Given the description of an element on the screen output the (x, y) to click on. 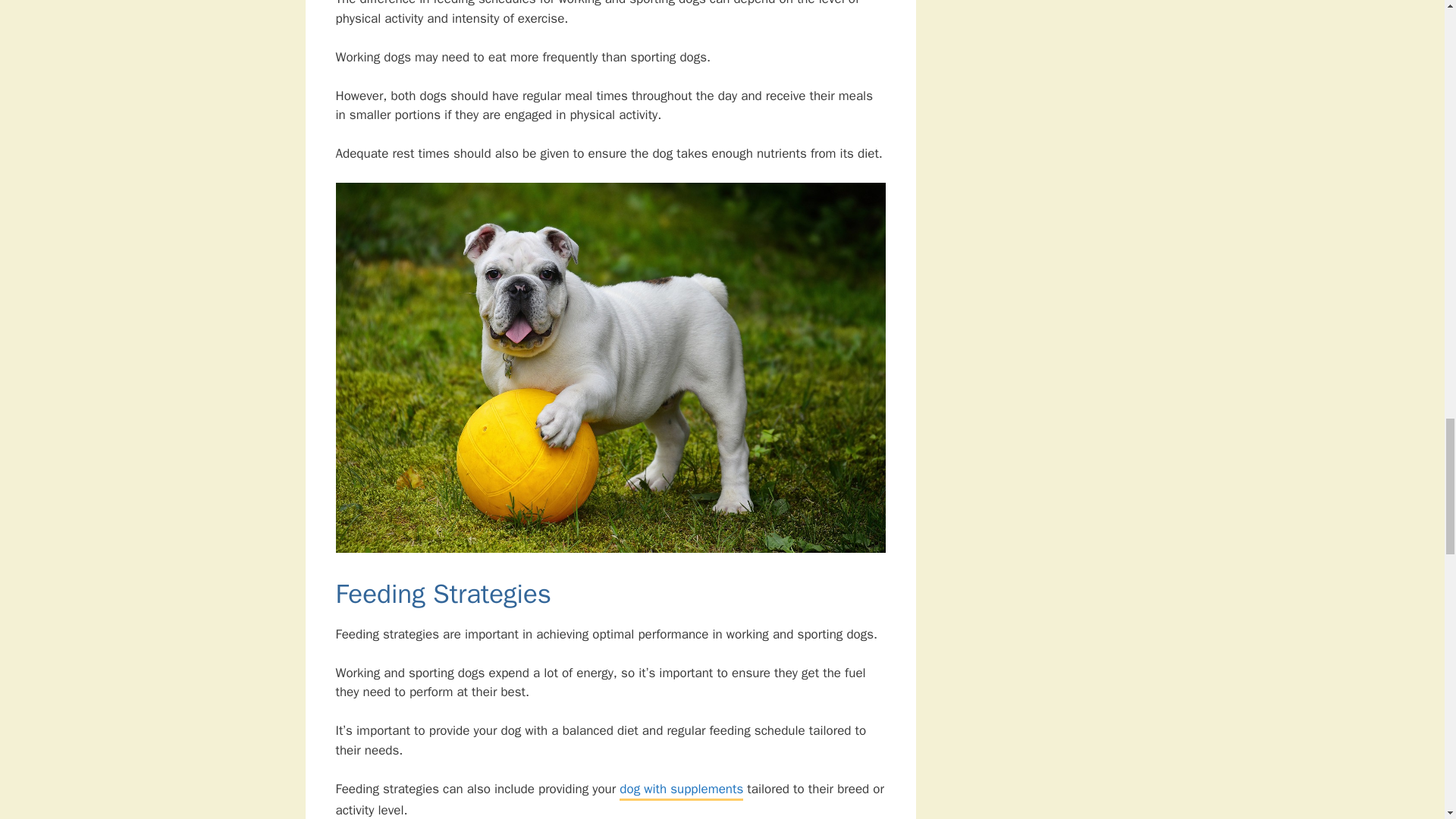
dog with supplements (681, 790)
